Given the description of an element on the screen output the (x, y) to click on. 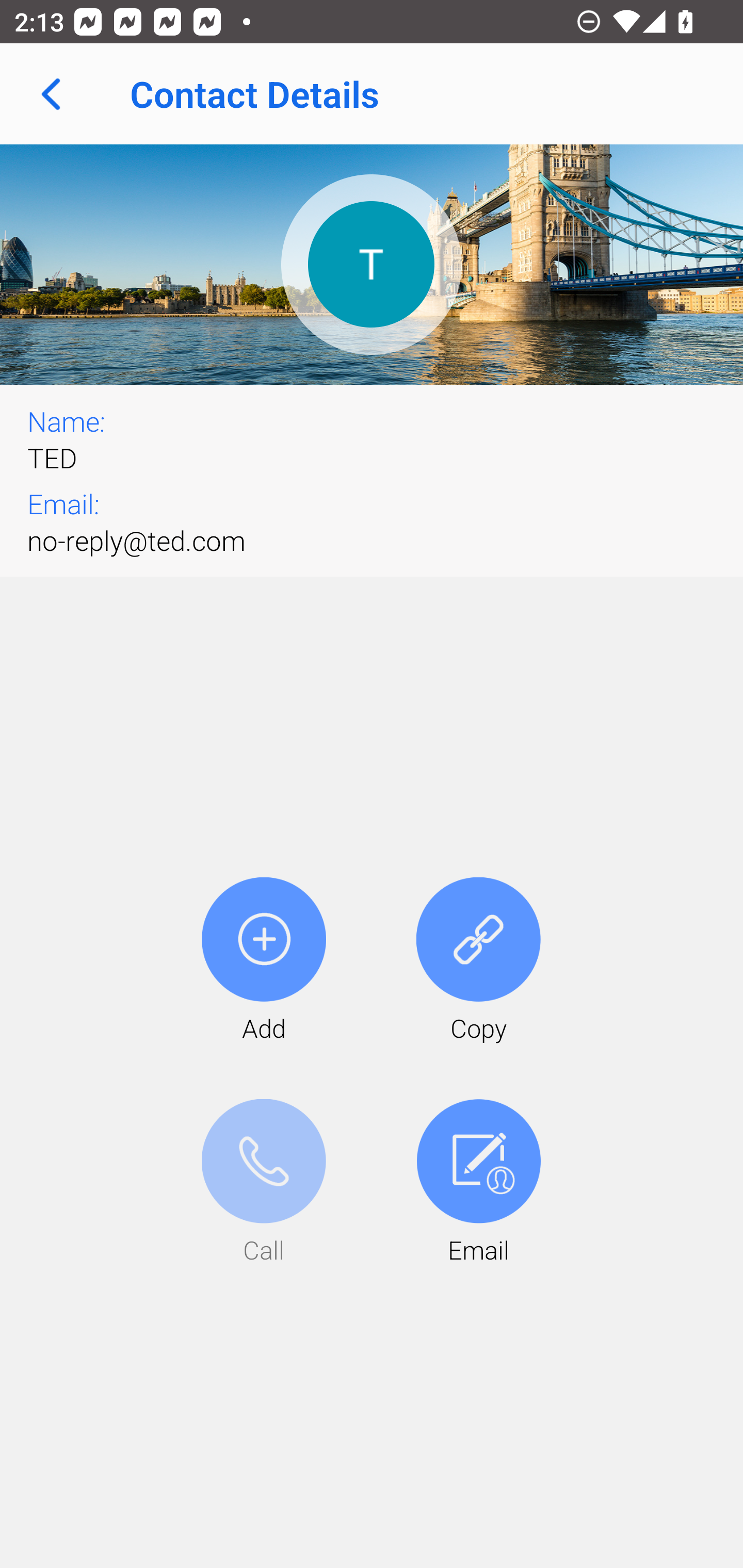
Navigate up (50, 93)
Add (264, 961)
Copy (478, 961)
Call (264, 1182)
Email (478, 1182)
